Given the description of an element on the screen output the (x, y) to click on. 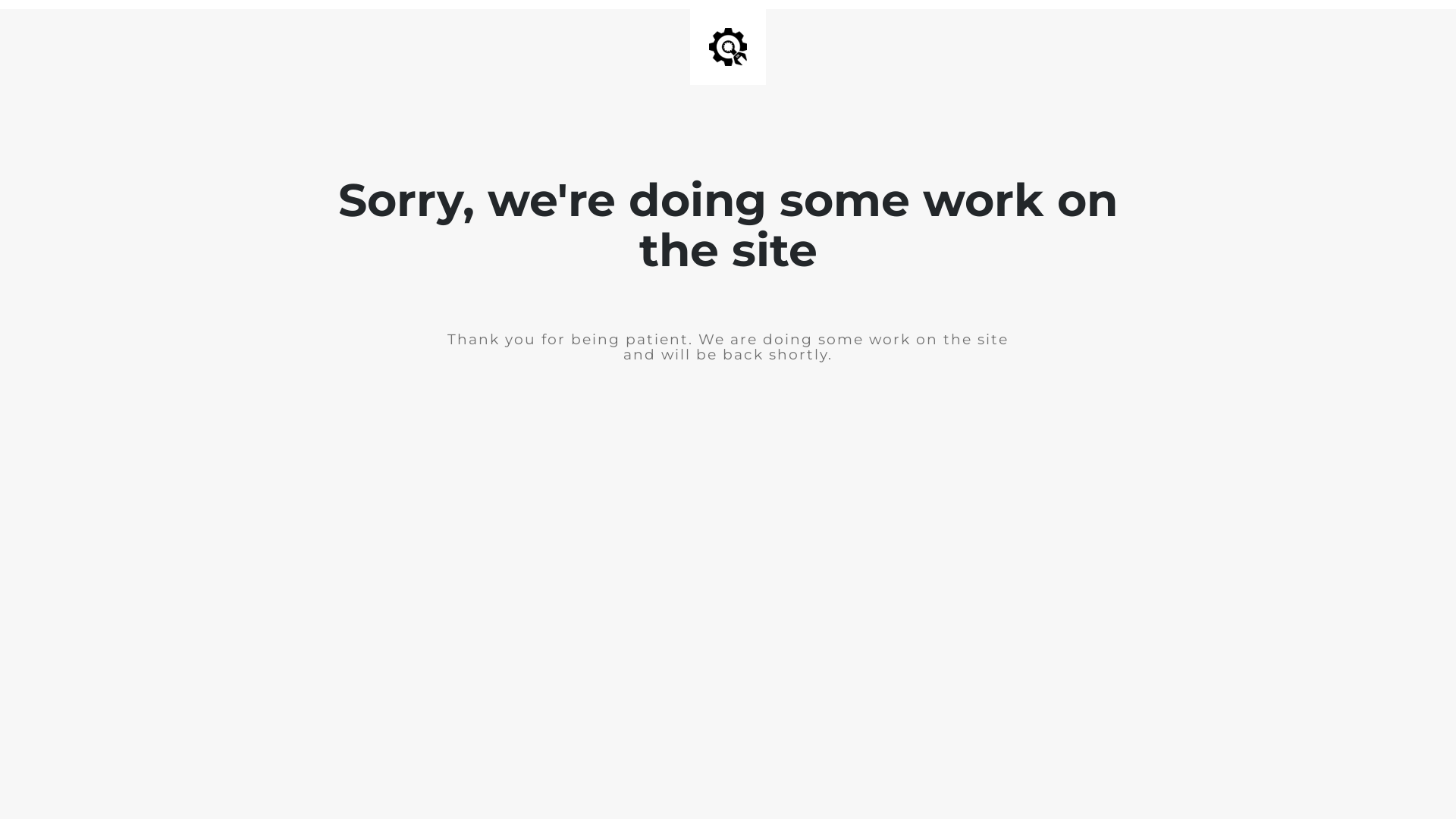
Site is Under Construction Element type: hover (727, 46)
